Given the description of an element on the screen output the (x, y) to click on. 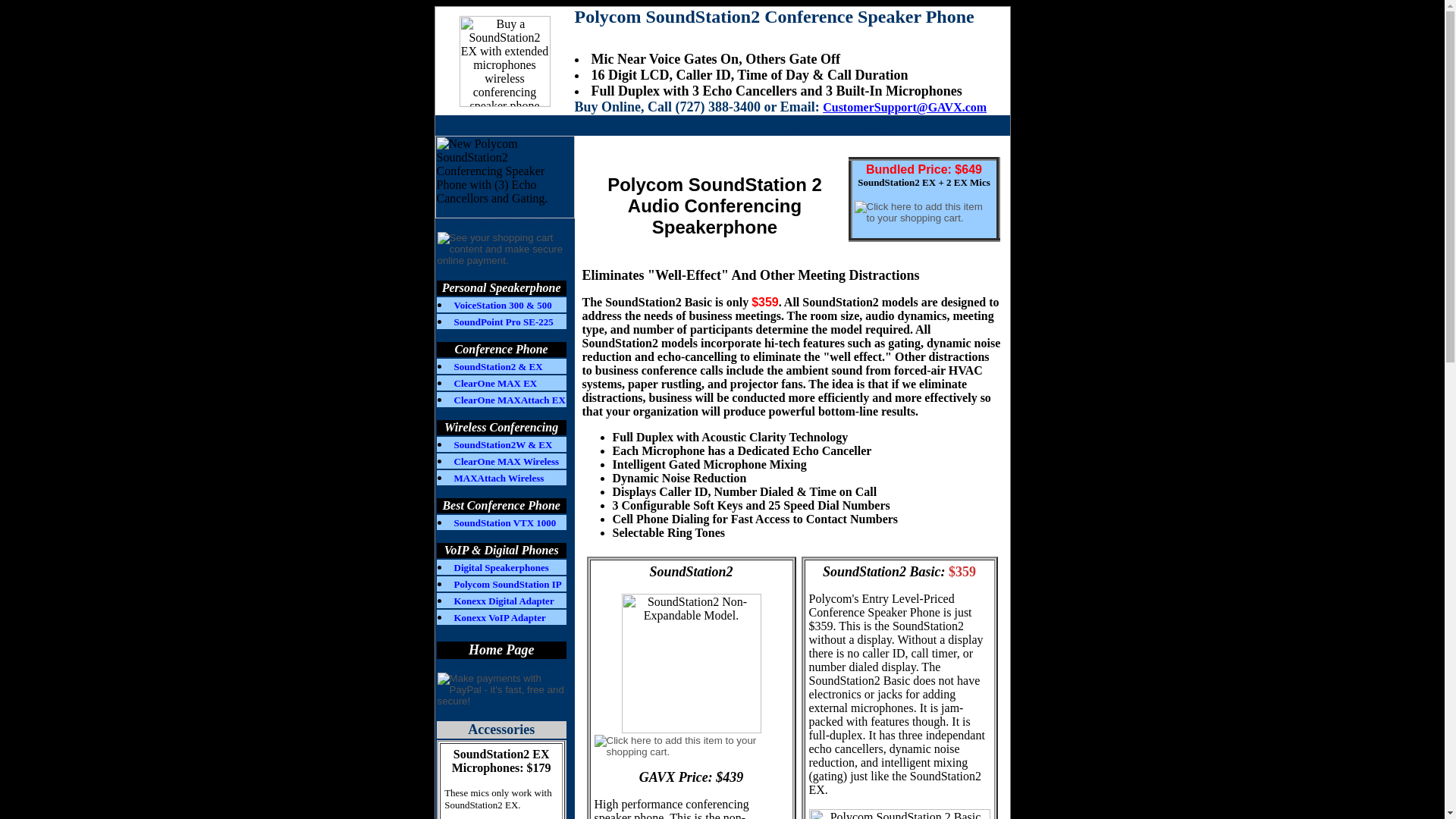
ClearOne and Polycom Wireless Conference Speaker Phones. (501, 254)
ClearOne MAX EX (494, 382)
ClearOne MAXAttach EX (508, 399)
Click here to see the ClearOne Max EX Conference Phone. (501, 382)
